Given the description of an element on the screen output the (x, y) to click on. 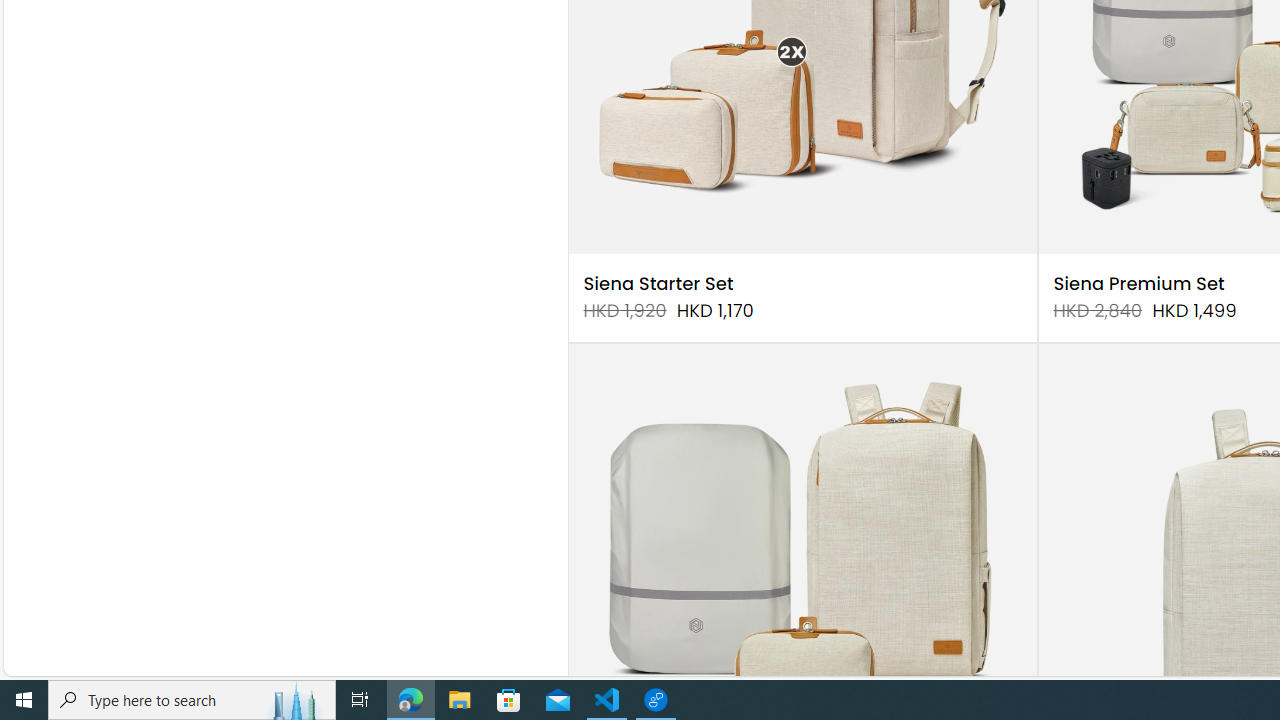
Siena Premium Set (1138, 283)
Siena Starter Set (657, 283)
